Given the description of an element on the screen output the (x, y) to click on. 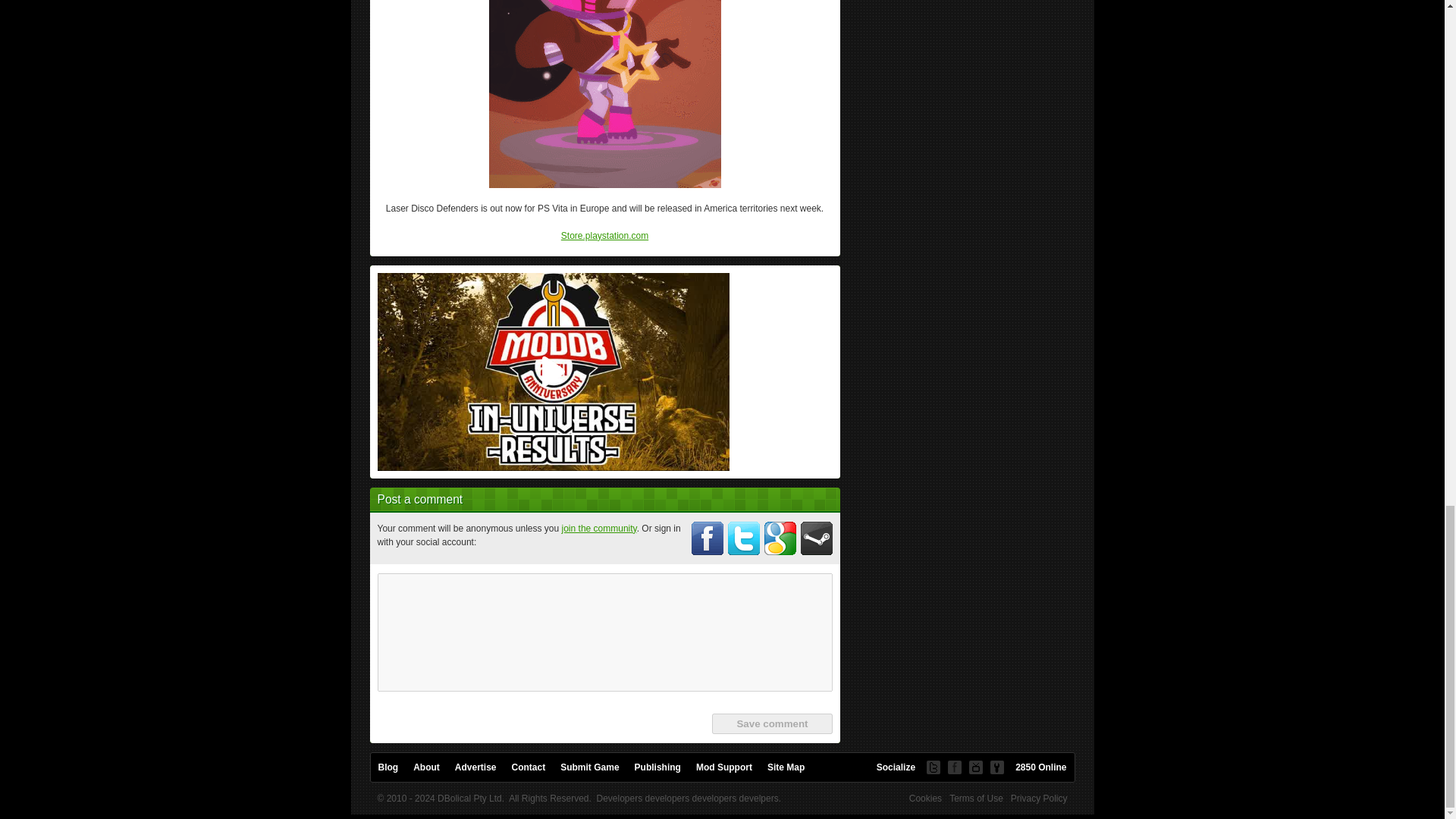
Click to connect via Facebook (707, 538)
Click to connect via Google (780, 538)
Save comment (771, 723)
Click to connect via Twitter (744, 538)
Click to connect via Steam (816, 538)
